Given the description of an element on the screen output the (x, y) to click on. 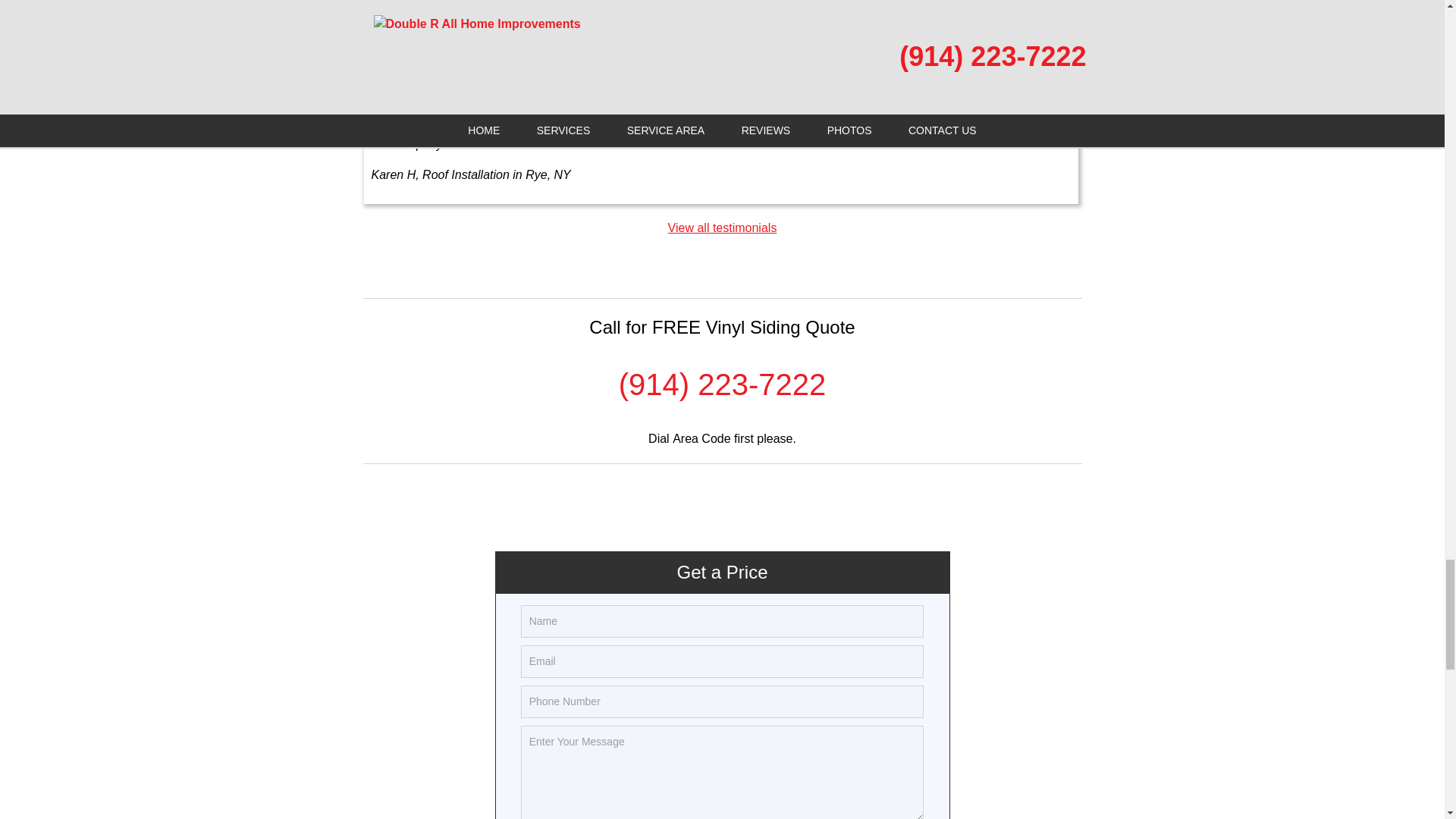
View all testimonials (722, 227)
